Given the description of an element on the screen output the (x, y) to click on. 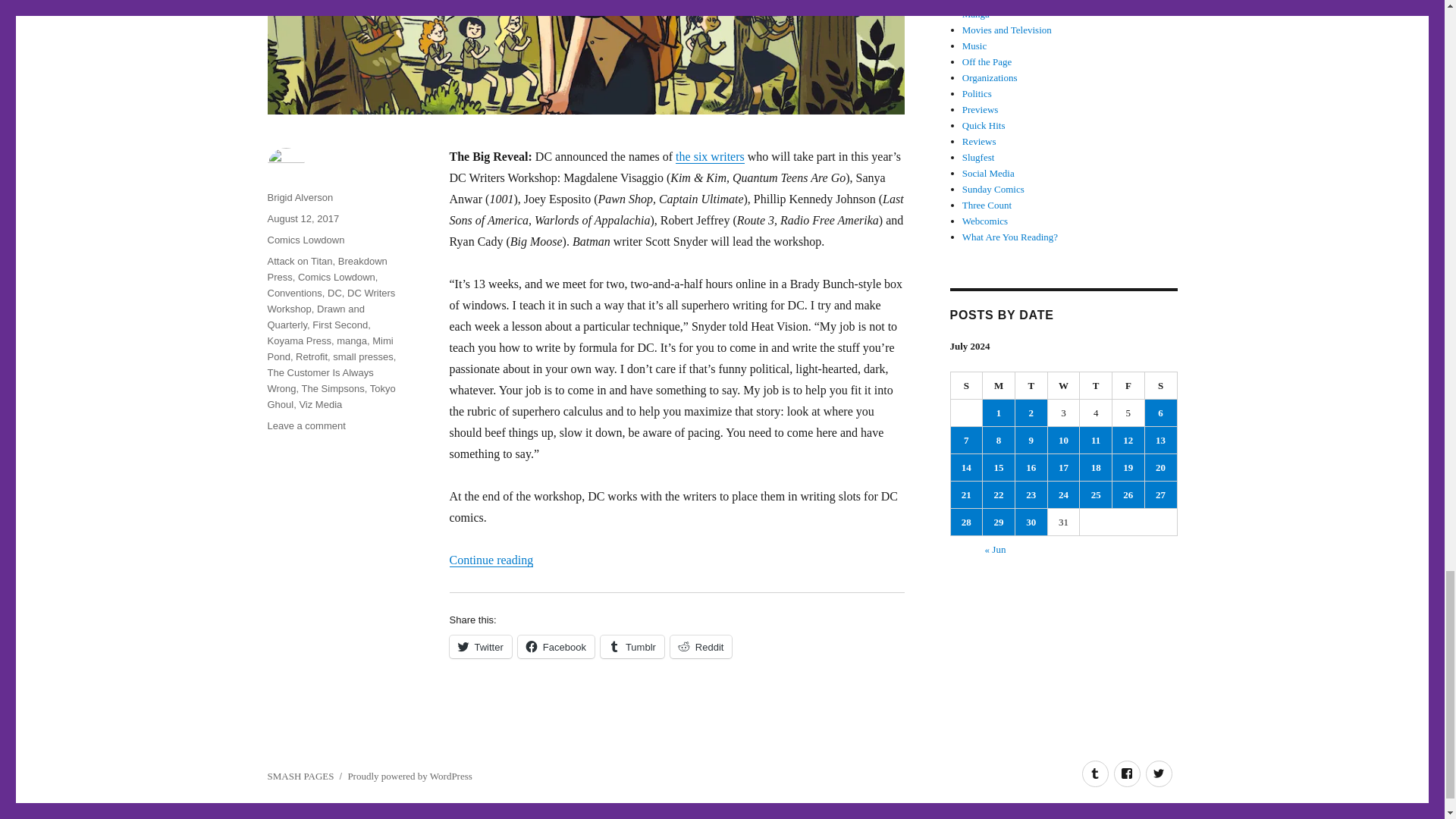
Click to share on Facebook (556, 646)
Tuesday (1031, 385)
Click to share on Reddit (700, 646)
Wednesday (1064, 385)
Monday (998, 385)
Sunday (967, 385)
Thursday (1096, 385)
Friday (1128, 385)
Click to share on Tumblr (631, 646)
Click to share on Twitter (479, 646)
